Given the description of an element on the screen output the (x, y) to click on. 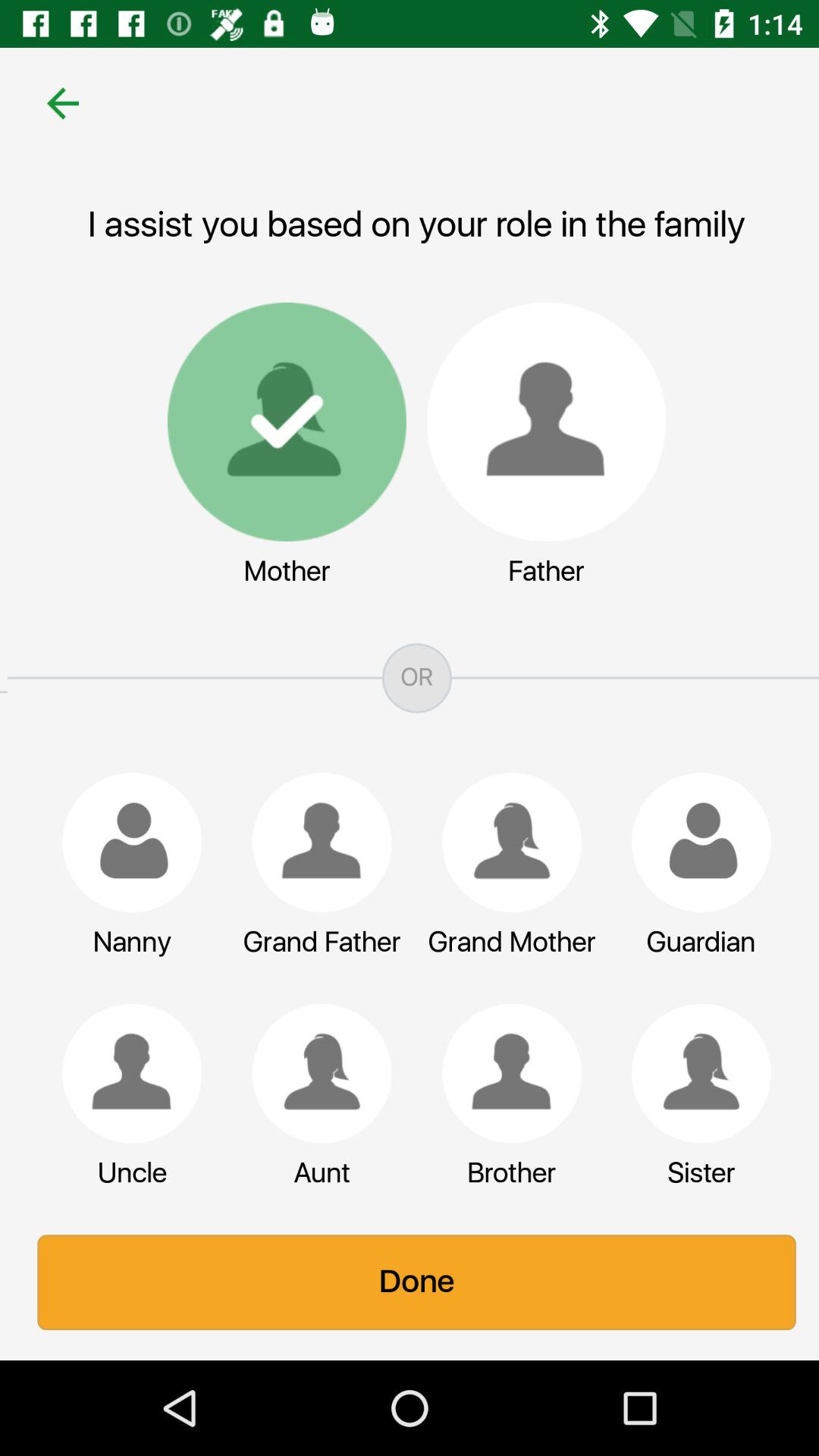
jump to or item (409, 678)
